Given the description of an element on the screen output the (x, y) to click on. 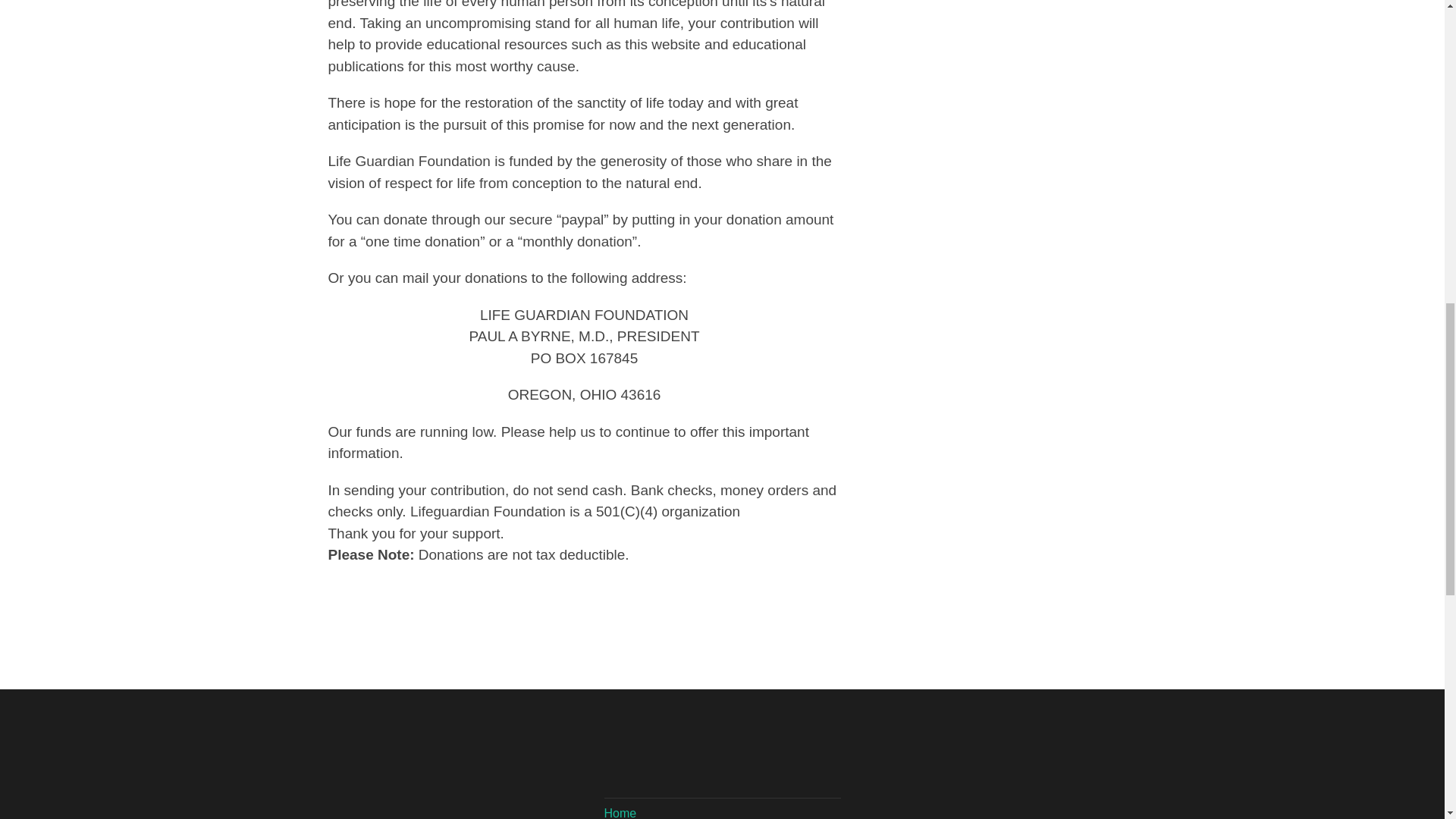
Home (620, 812)
